Given the description of an element on the screen output the (x, y) to click on. 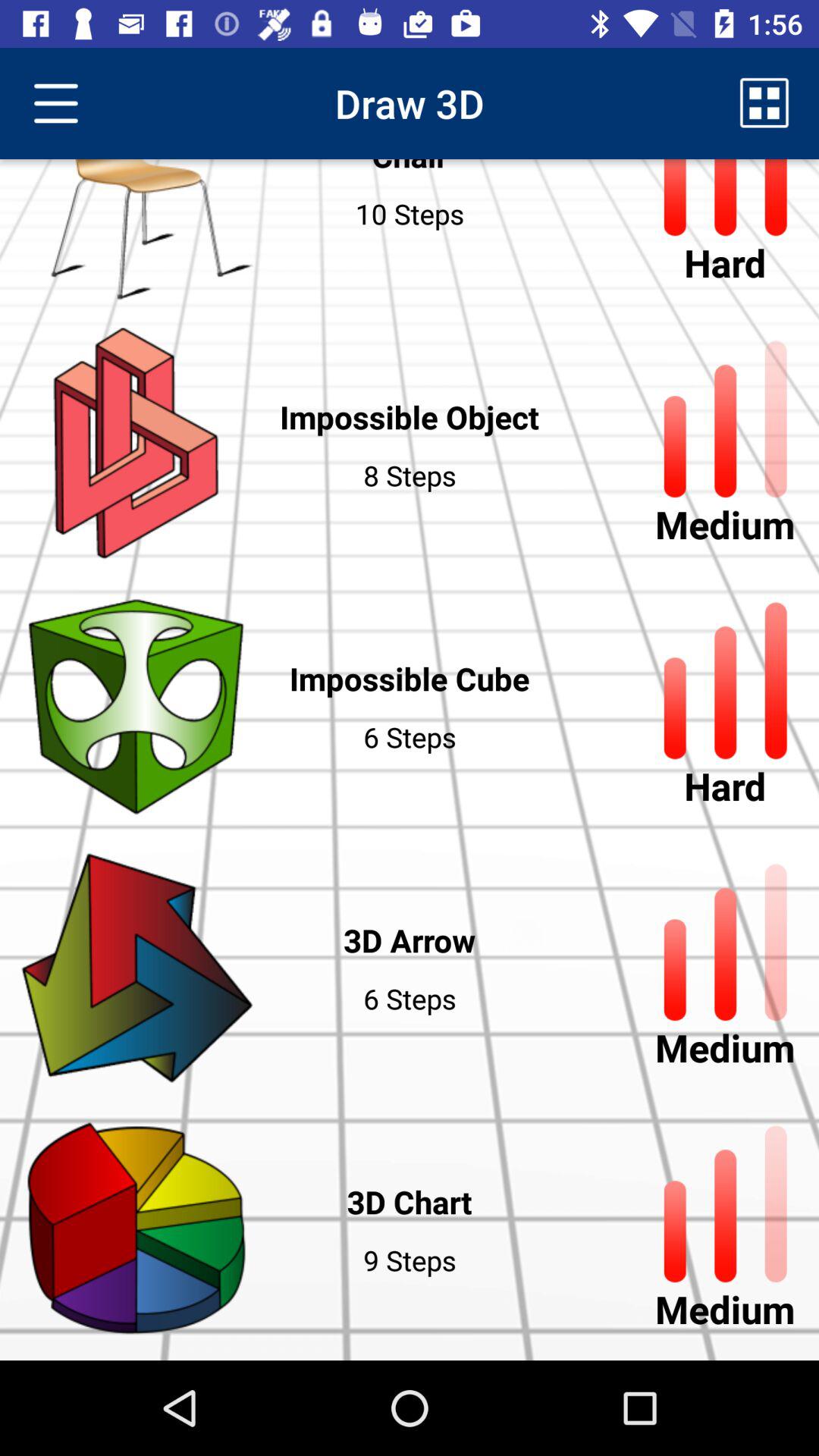
tap item to the left of chair item (55, 103)
